Given the description of an element on the screen output the (x, y) to click on. 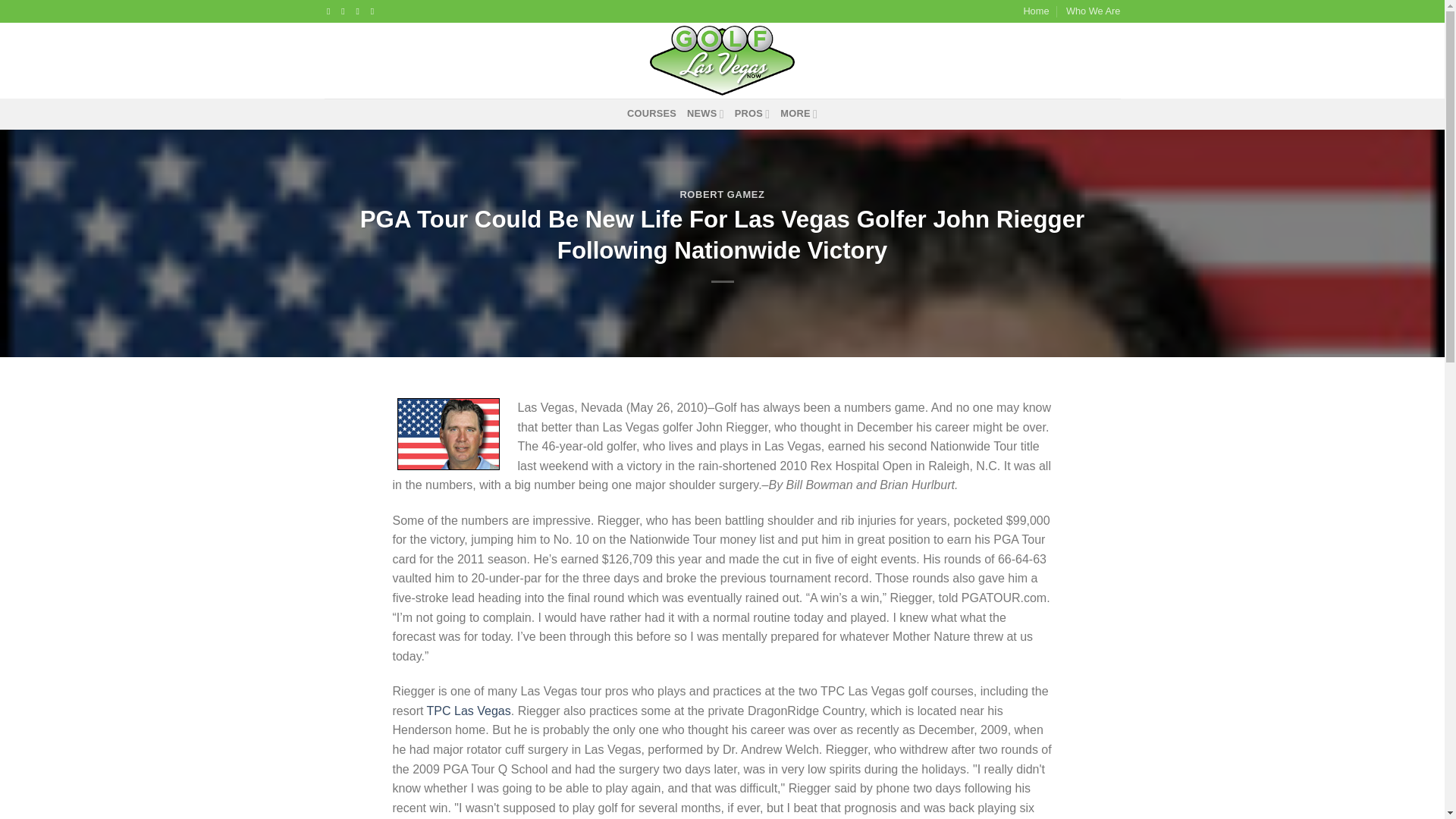
PROS (752, 113)
COURSES (652, 113)
TPC Las Vegas (468, 710)
Who We Are (1093, 11)
NEWS (705, 113)
ROBERT GAMEZ (721, 194)
MORE (798, 113)
Home (1035, 11)
